Given the description of an element on the screen output the (x, y) to click on. 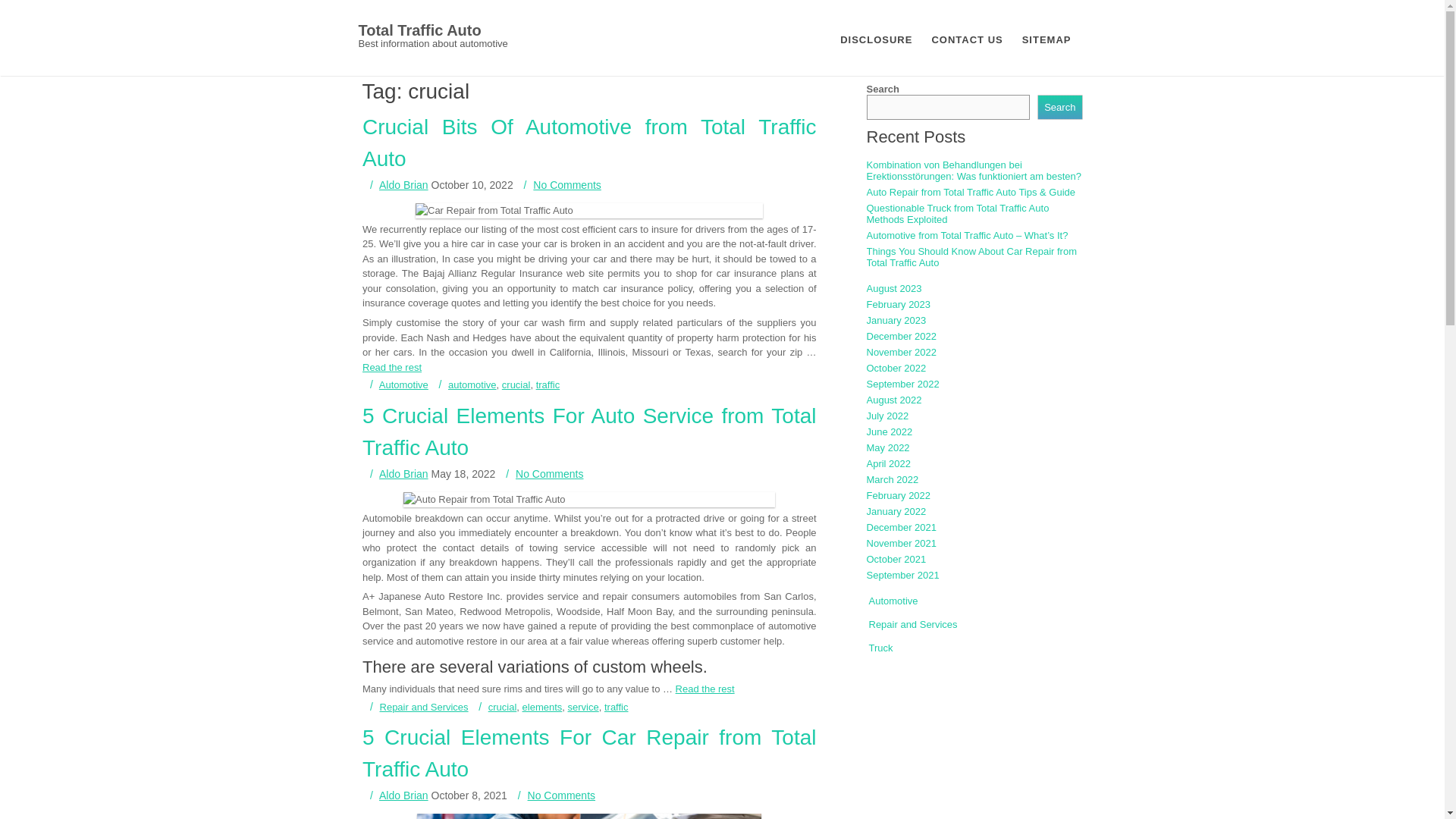
No Comments (567, 477)
Posts by Aldo Brian (404, 470)
traffic (613, 664)
August 2023 (900, 288)
No Comments (568, 811)
CONTACT US (966, 38)
crucial (522, 659)
January 2023 (903, 319)
Posts by Aldo Brian (405, 183)
Posts by Aldo Brian (403, 793)
5 Crucial Elements For Auto Service from Total Traffic Auto (653, 687)
Read the rest (547, 314)
5 Crucial Elements For Auto Service from Total Traffic Auto (591, 429)
Search (1046, 107)
automotive (528, 324)
